Given the description of an element on the screen output the (x, y) to click on. 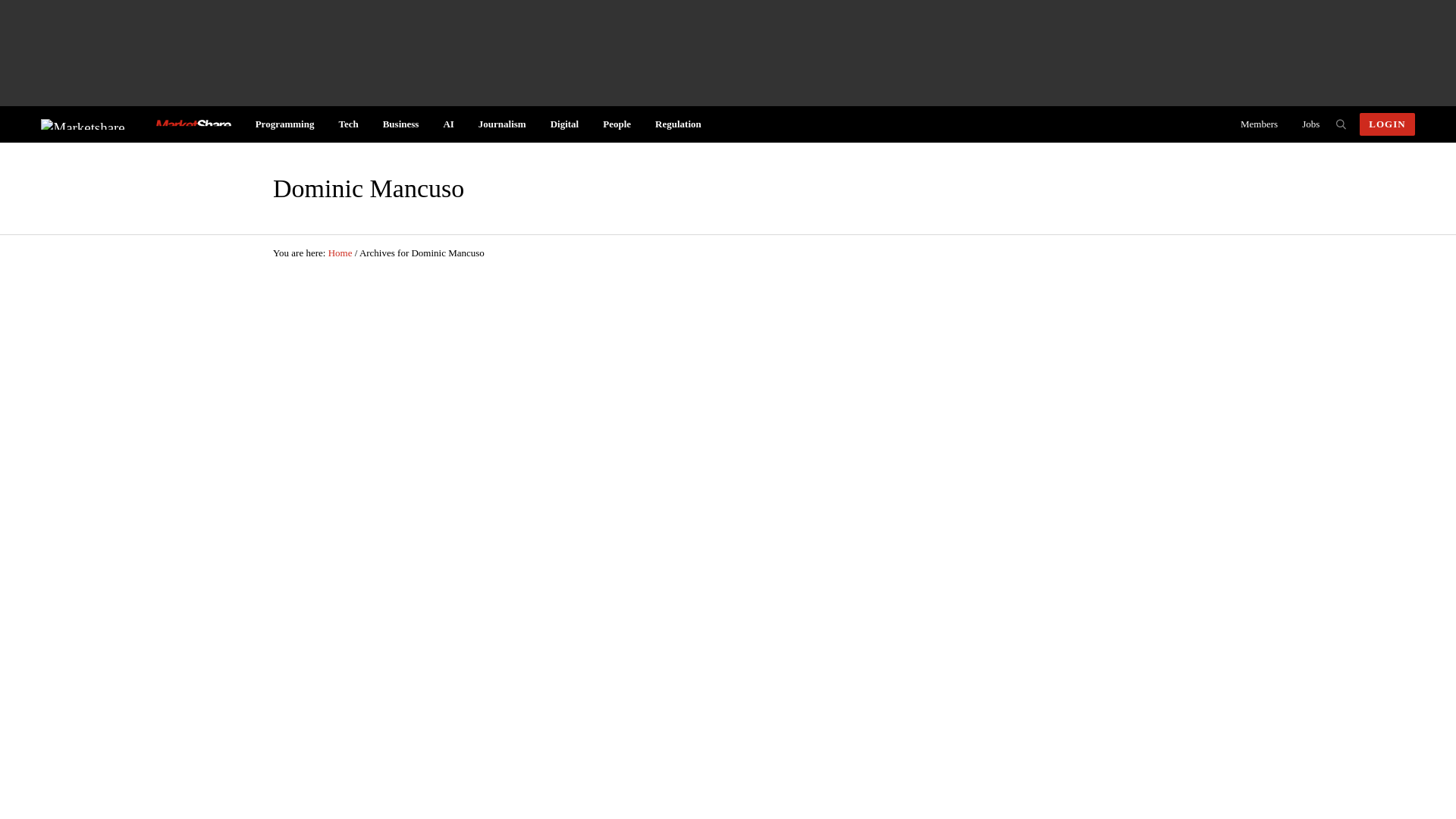
Jobs (1311, 124)
Business (400, 124)
Home (340, 252)
Programming (284, 124)
LOGIN (1386, 124)
AI (447, 124)
People (617, 124)
Tech (347, 124)
Members (1259, 124)
